Given the description of an element on the screen output the (x, y) to click on. 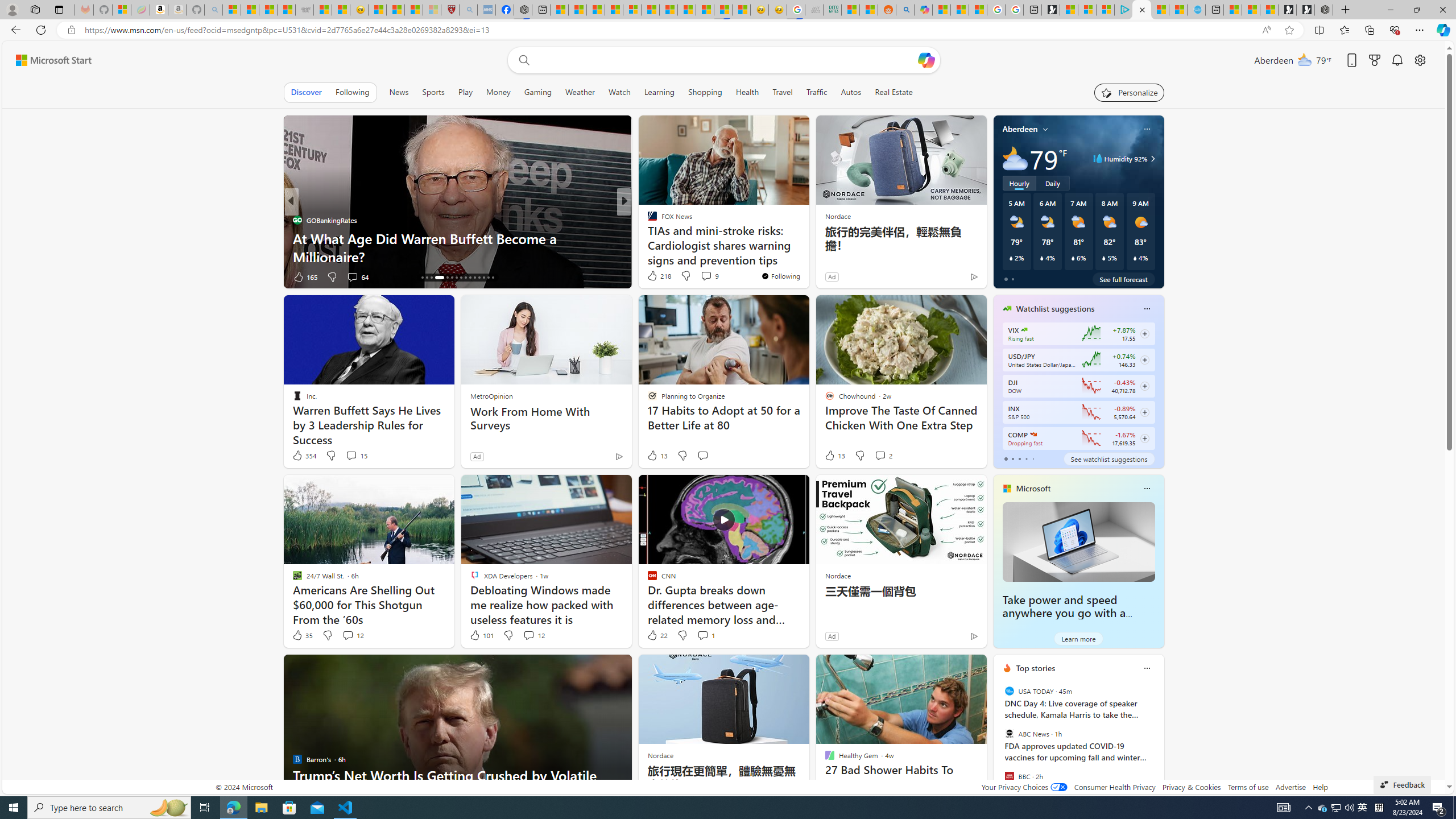
View comments 11 Comment (704, 276)
Fix Boat Bliss (807, 256)
Take power and speed anywhere you go with a Windows laptop. (1063, 613)
AutomationID: tab-30 (492, 277)
tab-2 (1019, 458)
NASDAQ (1032, 434)
Moneywise (647, 219)
